Given the description of an element on the screen output the (x, y) to click on. 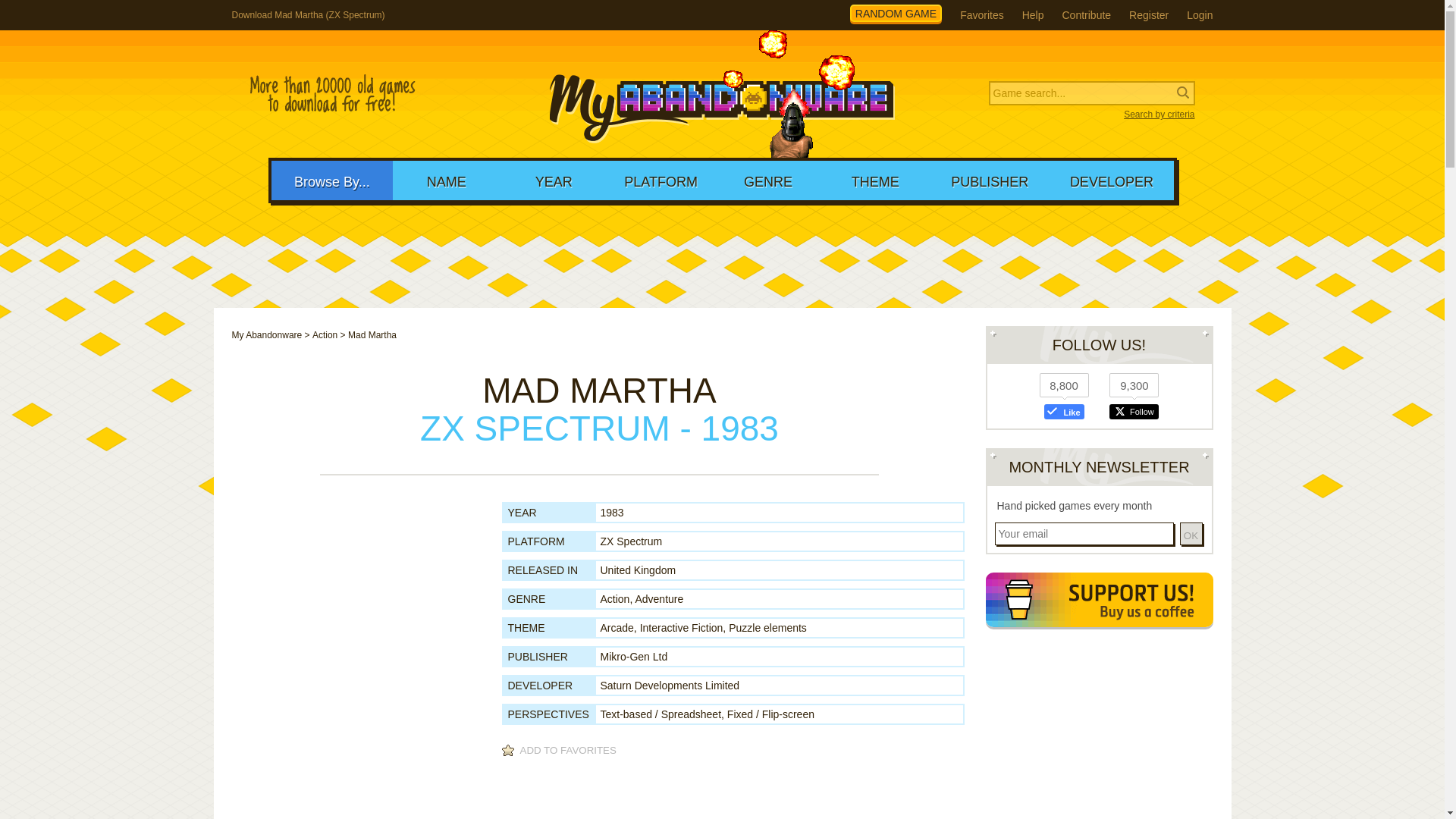
NAME (446, 179)
Login MAW (1199, 14)
Browse your Favorite Games (981, 14)
Favorites (981, 14)
Real count is close to 30000 (332, 93)
Saturn Developments Limited (669, 685)
Action (325, 335)
PUBLISHER (989, 179)
ZX Spectrum (630, 541)
search (98, 12)
Browse games of this theme (767, 627)
Help us by contributing (1085, 14)
Browse games of this theme (681, 627)
Ad-free browsing included (1098, 602)
YEAR (553, 179)
